Given the description of an element on the screen output the (x, y) to click on. 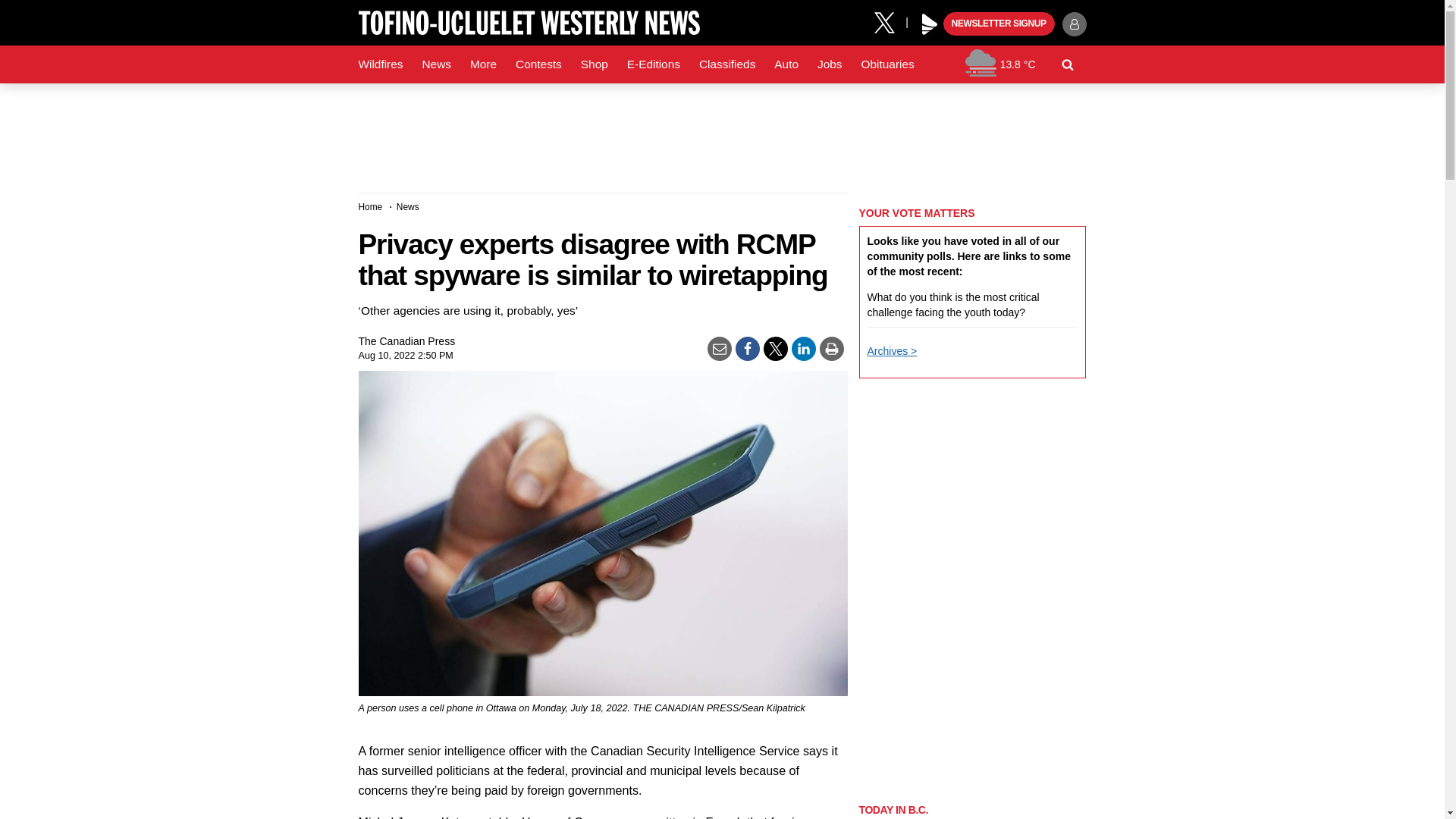
Play (929, 24)
Wildfires (380, 64)
Black Press Media (929, 24)
X (889, 21)
NEWSLETTER SIGNUP (998, 24)
News (435, 64)
